Given the description of an element on the screen output the (x, y) to click on. 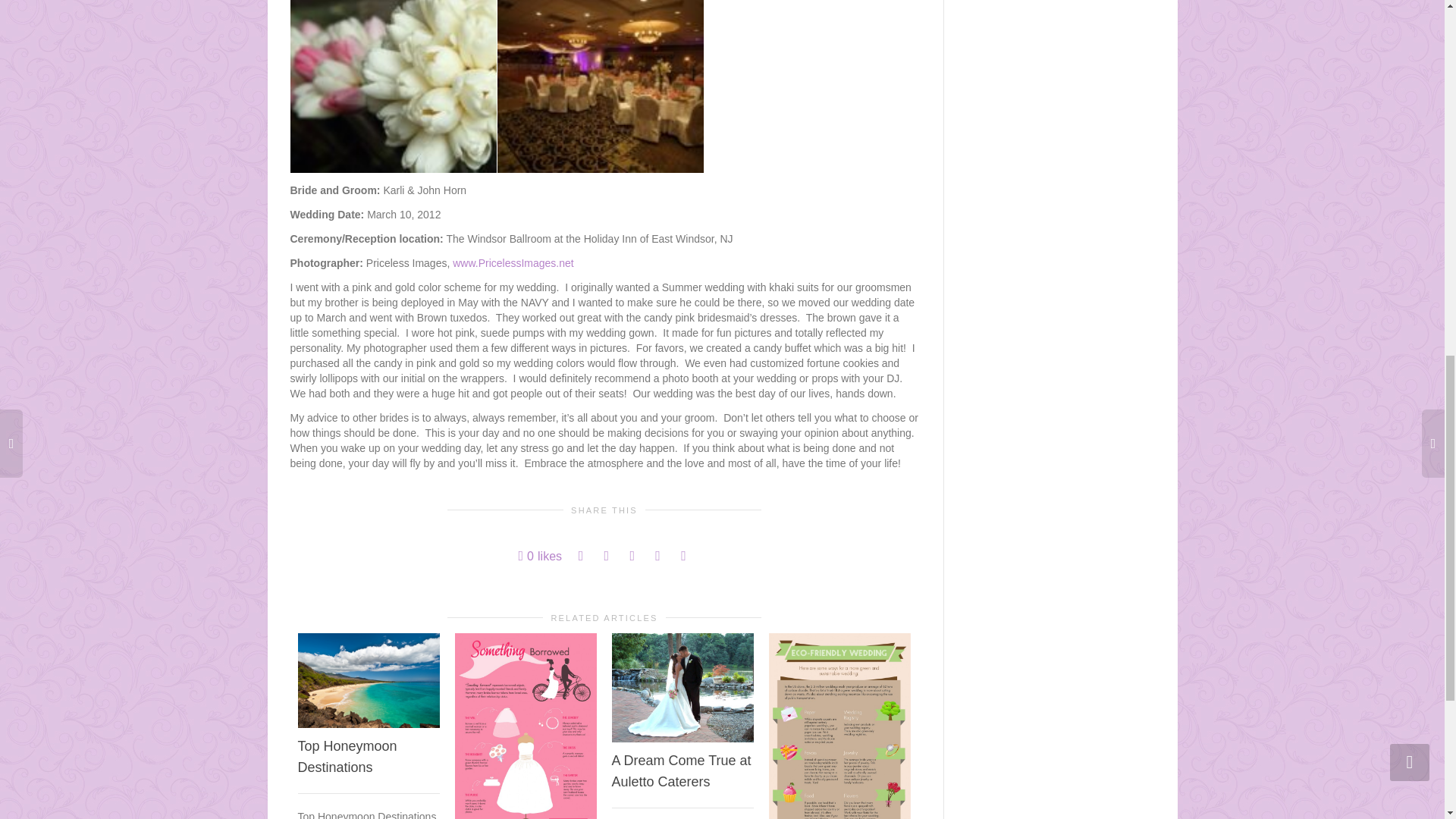
Like this (540, 555)
www.PricelessImages.net (512, 263)
A Dream Come True at Auletto Caterers (681, 770)
0 likes (540, 555)
Top Honeymoon Destinations (346, 756)
